Given the description of an element on the screen output the (x, y) to click on. 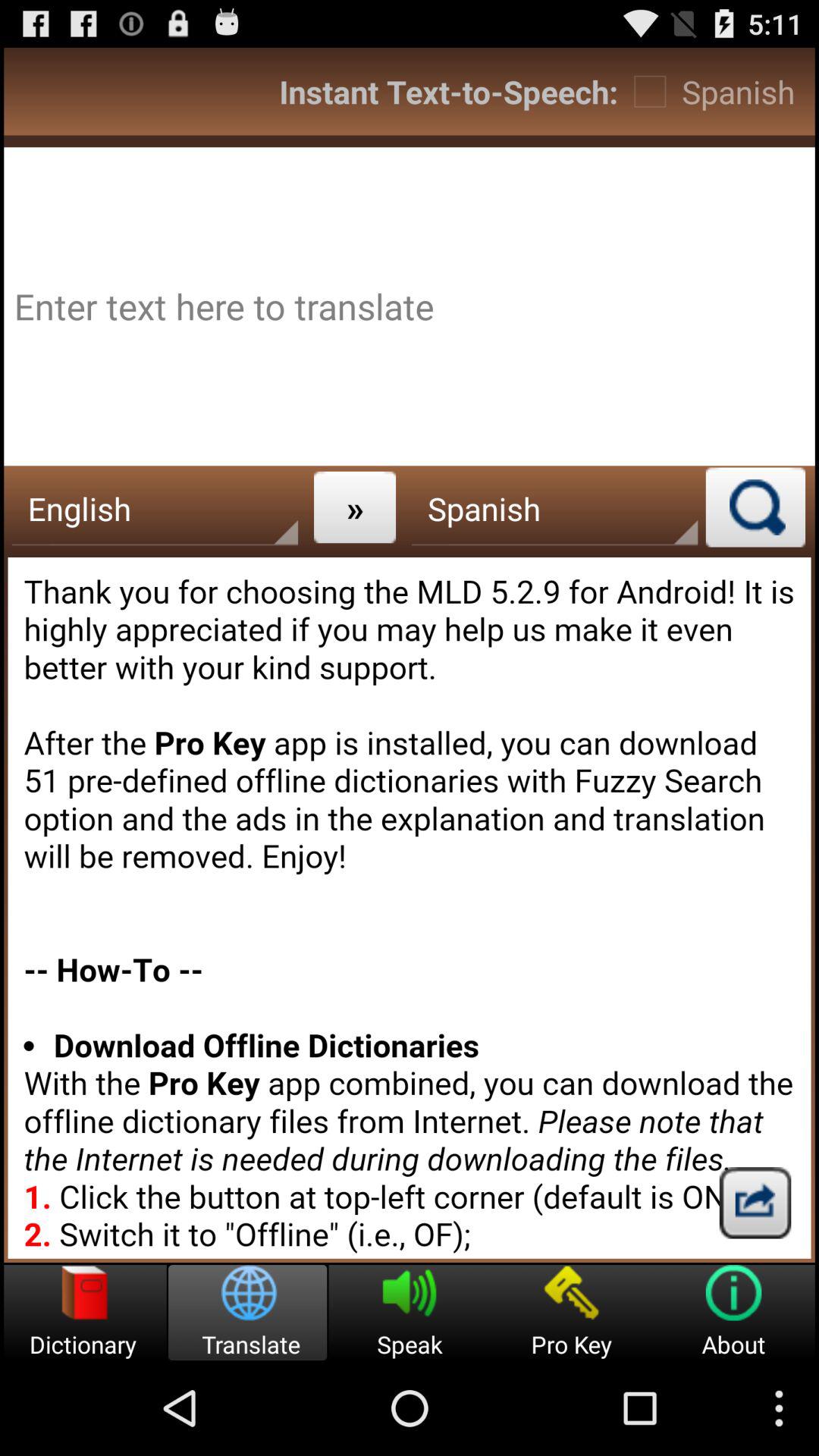
digit the text (409, 306)
